Given the description of an element on the screen output the (x, y) to click on. 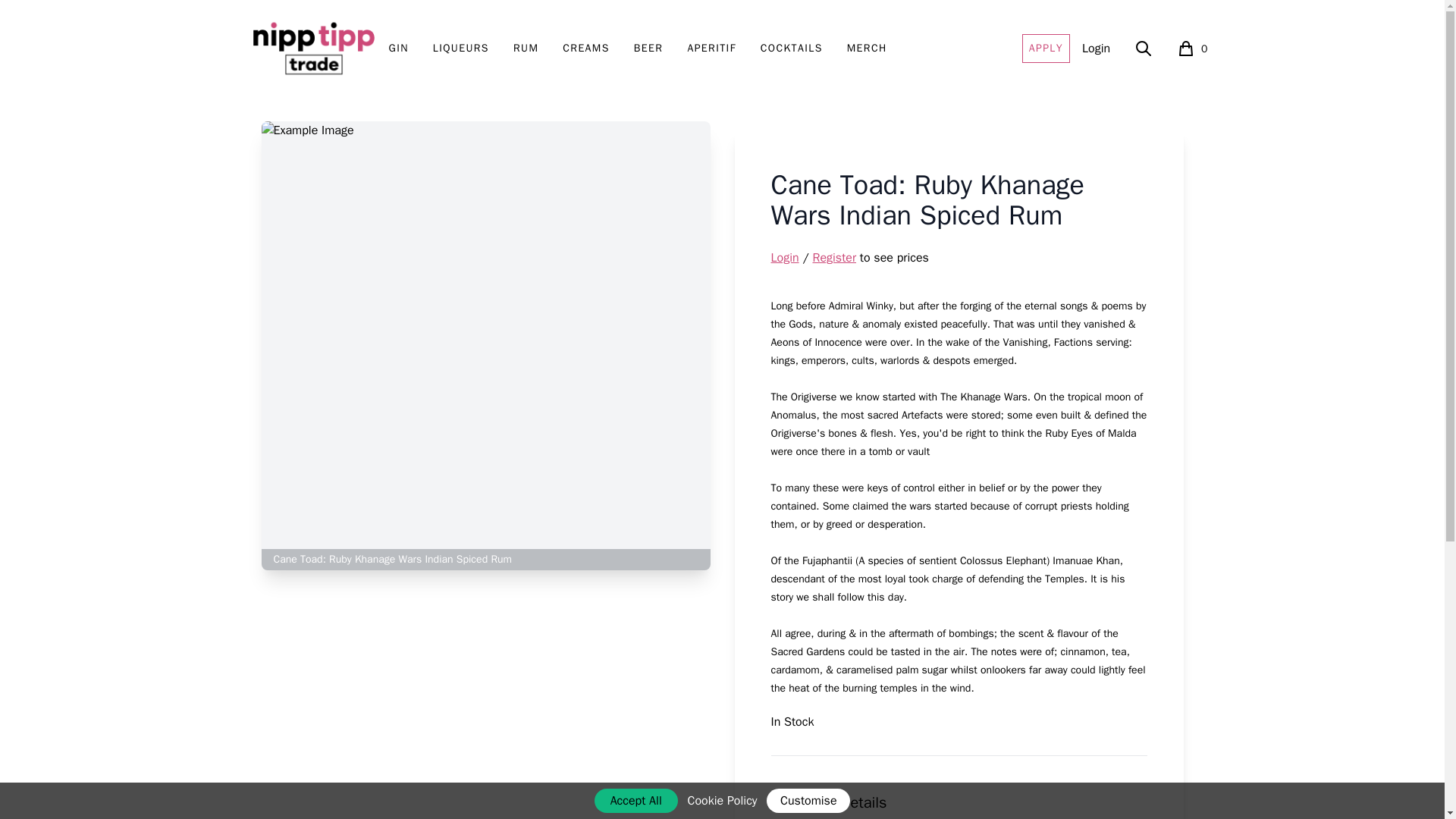
Register (1191, 48)
BEER (834, 257)
Workflow (648, 48)
CREAMS (311, 48)
NippTipp (586, 48)
Login (311, 48)
Login (783, 257)
GIN (1095, 48)
COCKTAILS (397, 48)
APERITIF (791, 48)
Accept All (711, 48)
Search (636, 800)
APPLY (1143, 48)
LIQUEURS (1046, 48)
